Given the description of an element on the screen output the (x, y) to click on. 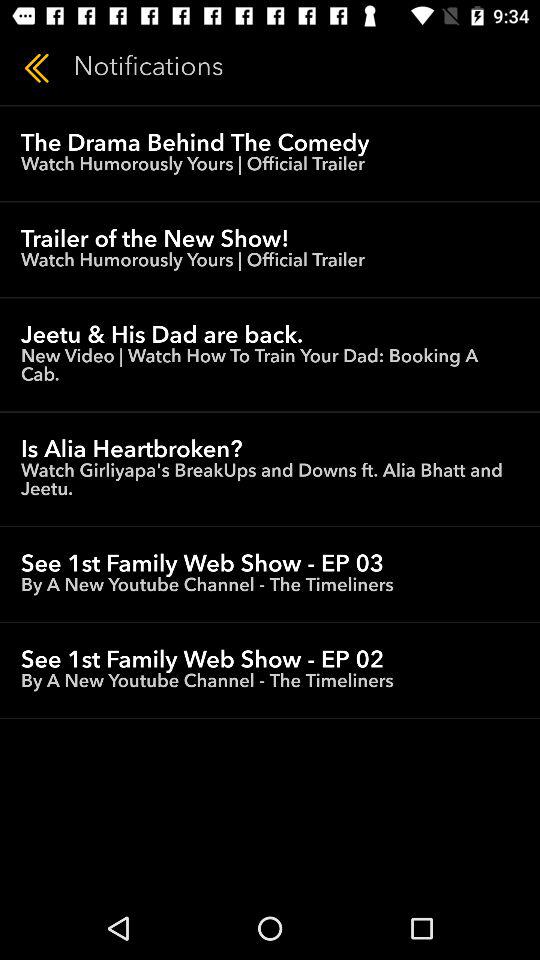
turn on icon to the left of the notifications icon (36, 68)
